Given the description of an element on the screen output the (x, y) to click on. 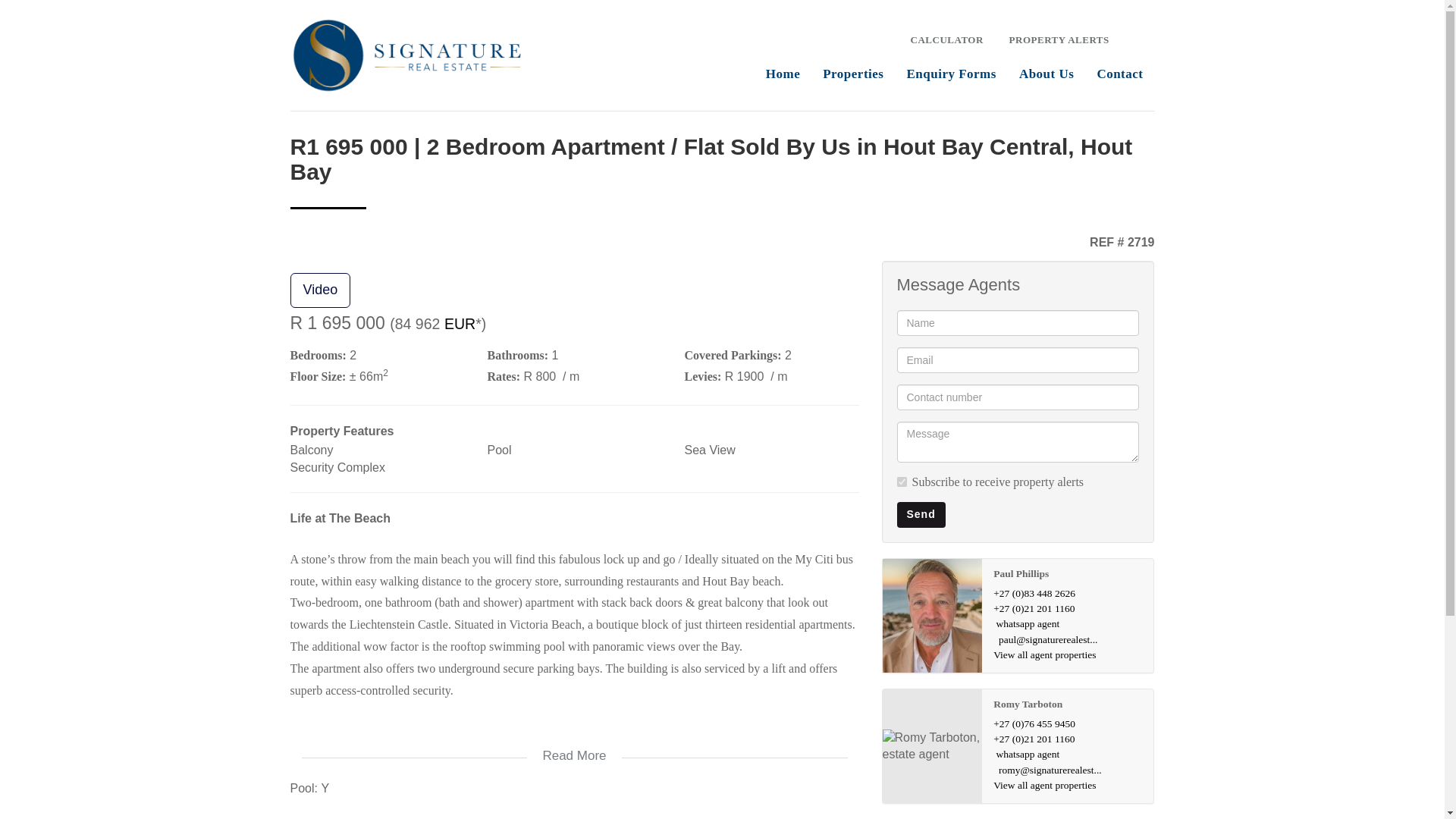
on (900, 481)
Properties (852, 72)
Enquiry Forms (951, 72)
 PROPERTY ALERTS (1057, 38)
CALCULATOR (946, 38)
Home (782, 72)
Signature Real Estate, Estate Agency Logo (406, 55)
Read More (574, 745)
Contact (1119, 72)
